Given the description of an element on the screen output the (x, y) to click on. 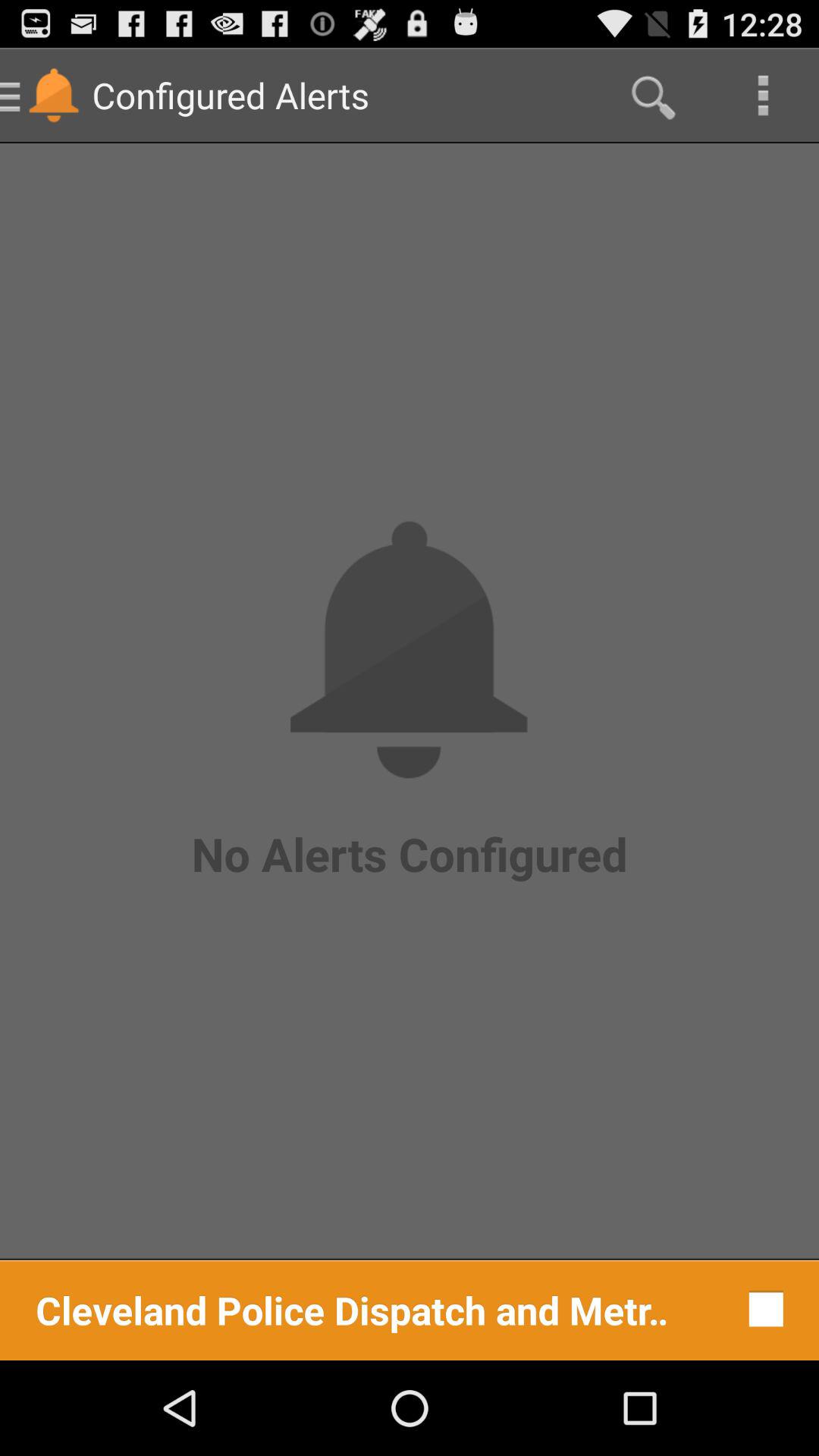
choose item below the no alerts configured app (352, 1309)
